Given the description of an element on the screen output the (x, y) to click on. 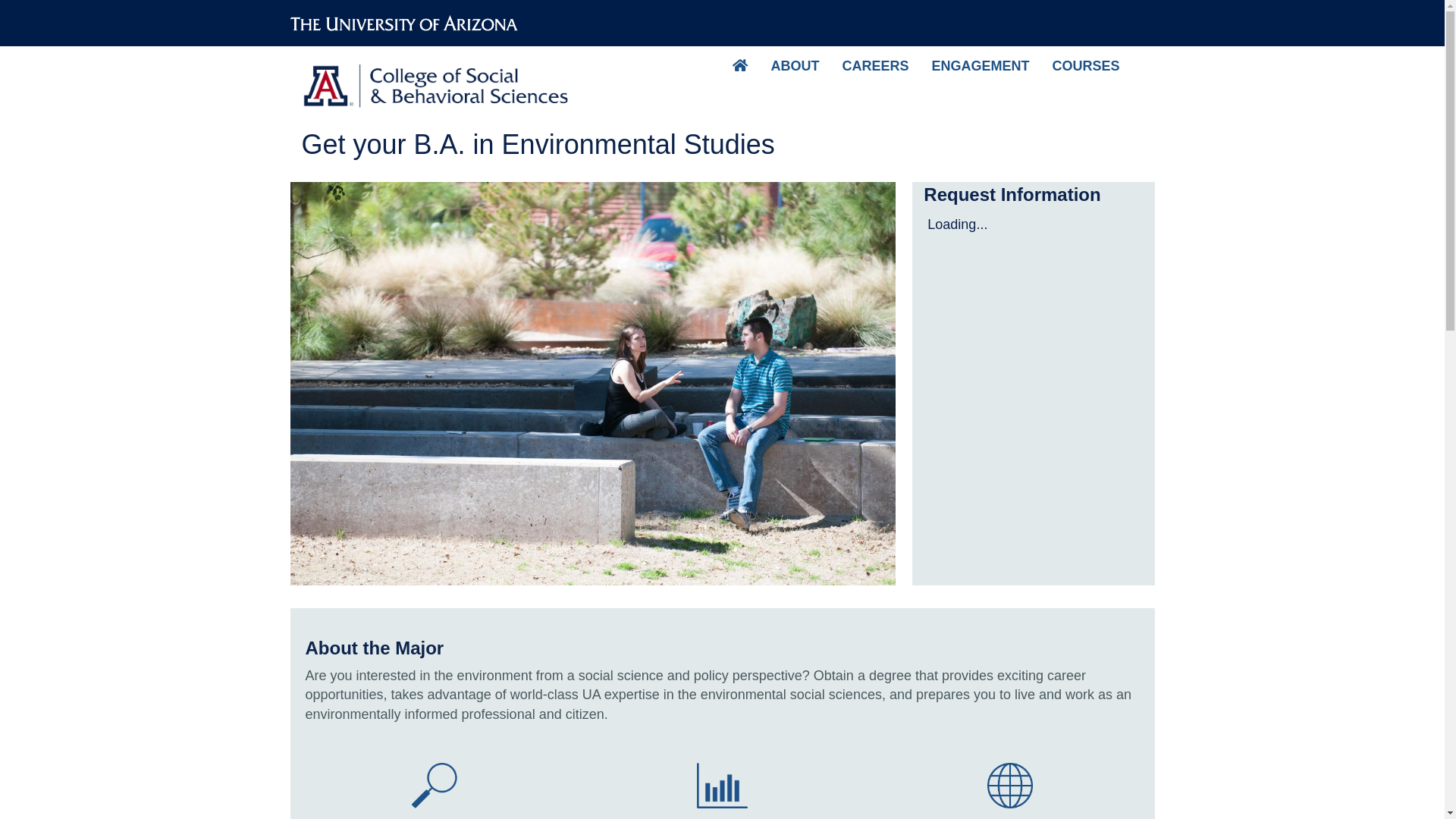
CAREERS (874, 65)
COURSES (1086, 65)
ENGAGEMENT (980, 65)
ABOUT (793, 65)
Home (439, 80)
